Given the description of an element on the screen output the (x, y) to click on. 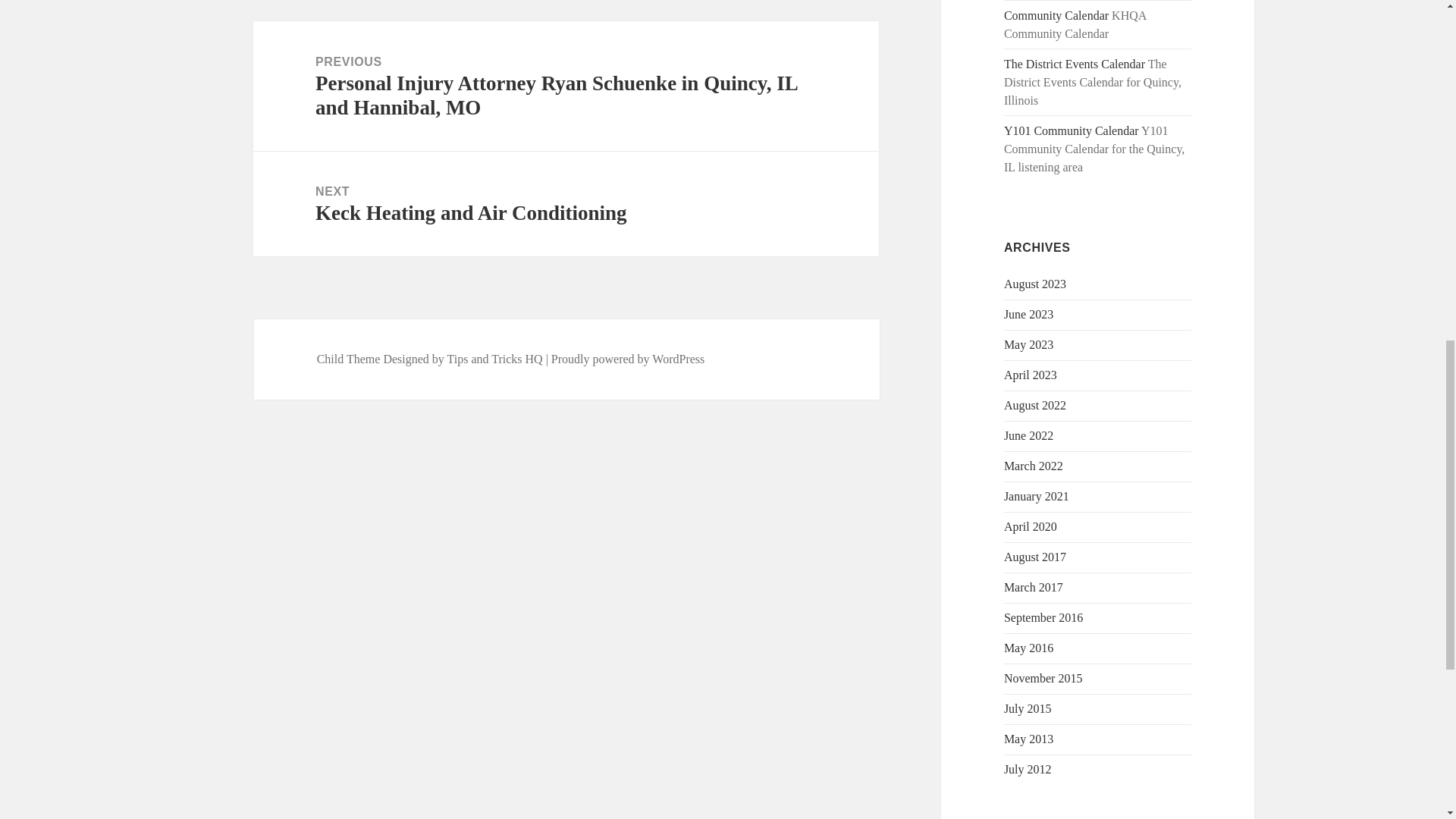
Y101 Community Calendar (1071, 130)
March 2017 (1033, 586)
January 2021 (1036, 495)
July 2012 (1027, 768)
The District Events Calendar for Quincy, Illinois (1074, 63)
November 2015 (1043, 677)
Y101 Community Calendar for the Quincy, IL listening area (1071, 130)
August 2023 (1034, 283)
August 2022 (1034, 404)
May 2023 (1028, 344)
